Given the description of an element on the screen output the (x, y) to click on. 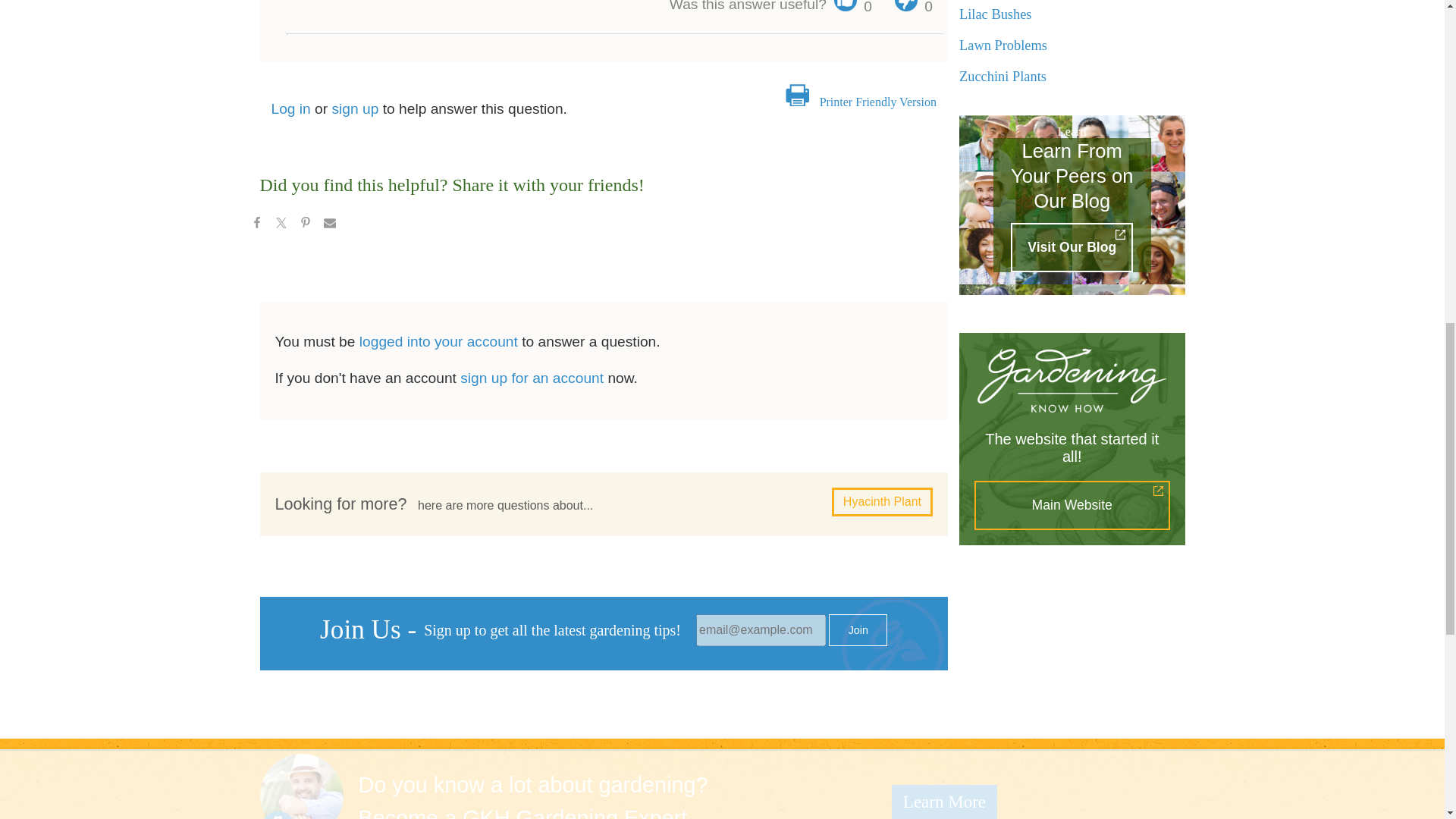
sign up (354, 108)
Share on Pinterest (304, 224)
Share via Email (328, 224)
sign up for an account (532, 377)
Share on Twitter (279, 224)
Hyacinth Plant (882, 501)
logged into your account (438, 341)
Log in (290, 108)
Printer Friendly Version (877, 101)
Printer Friendly Version (877, 101)
Join (857, 630)
Share on Facebook (255, 224)
